Given the description of an element on the screen output the (x, y) to click on. 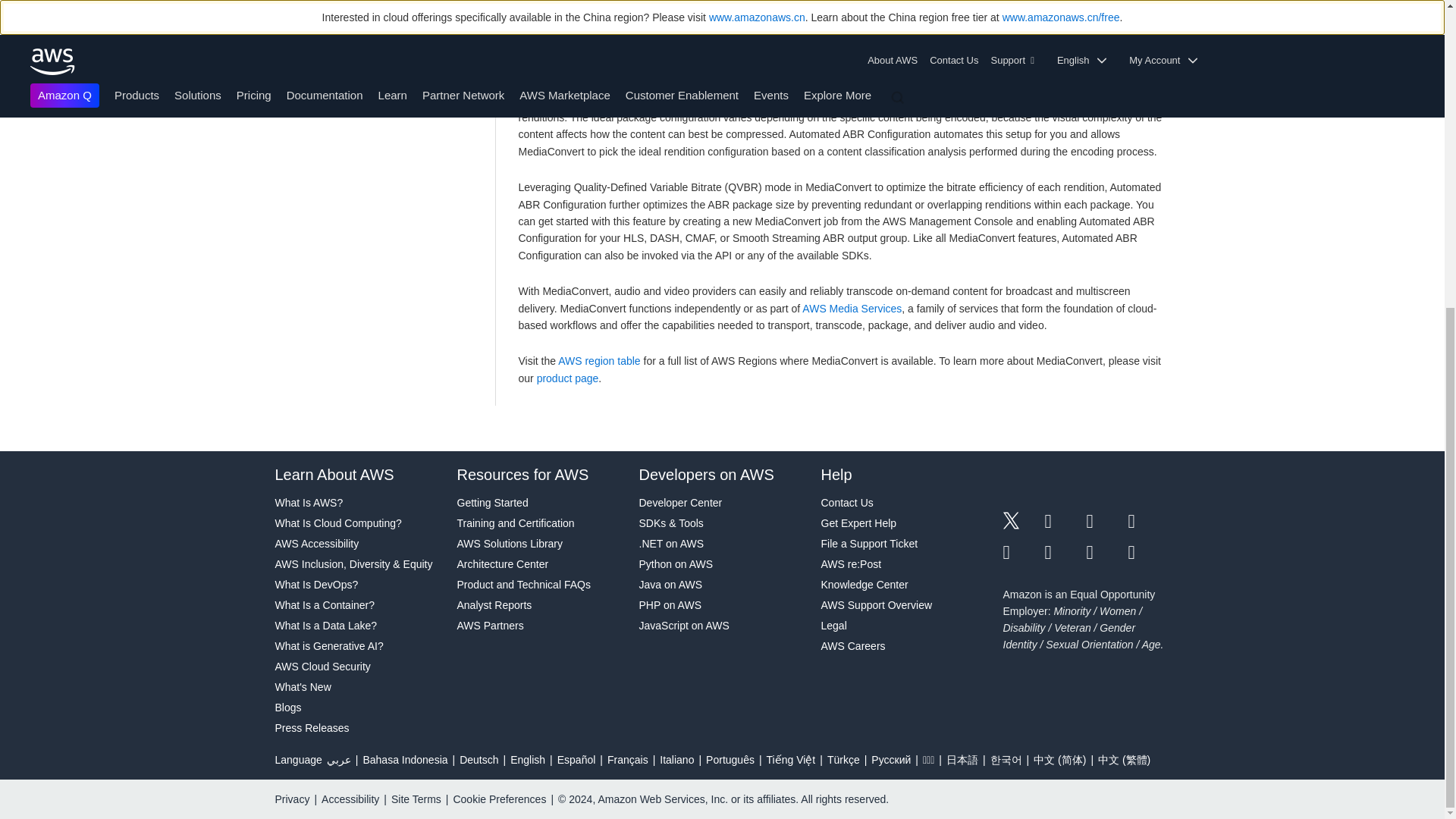
YouTube (1065, 552)
Facebook (1065, 522)
Press Releases (358, 727)
Podcast (1106, 552)
Instagram (1149, 522)
Linkedin (1106, 522)
Twitter (1023, 522)
Twitch (1023, 552)
